Given the description of an element on the screen output the (x, y) to click on. 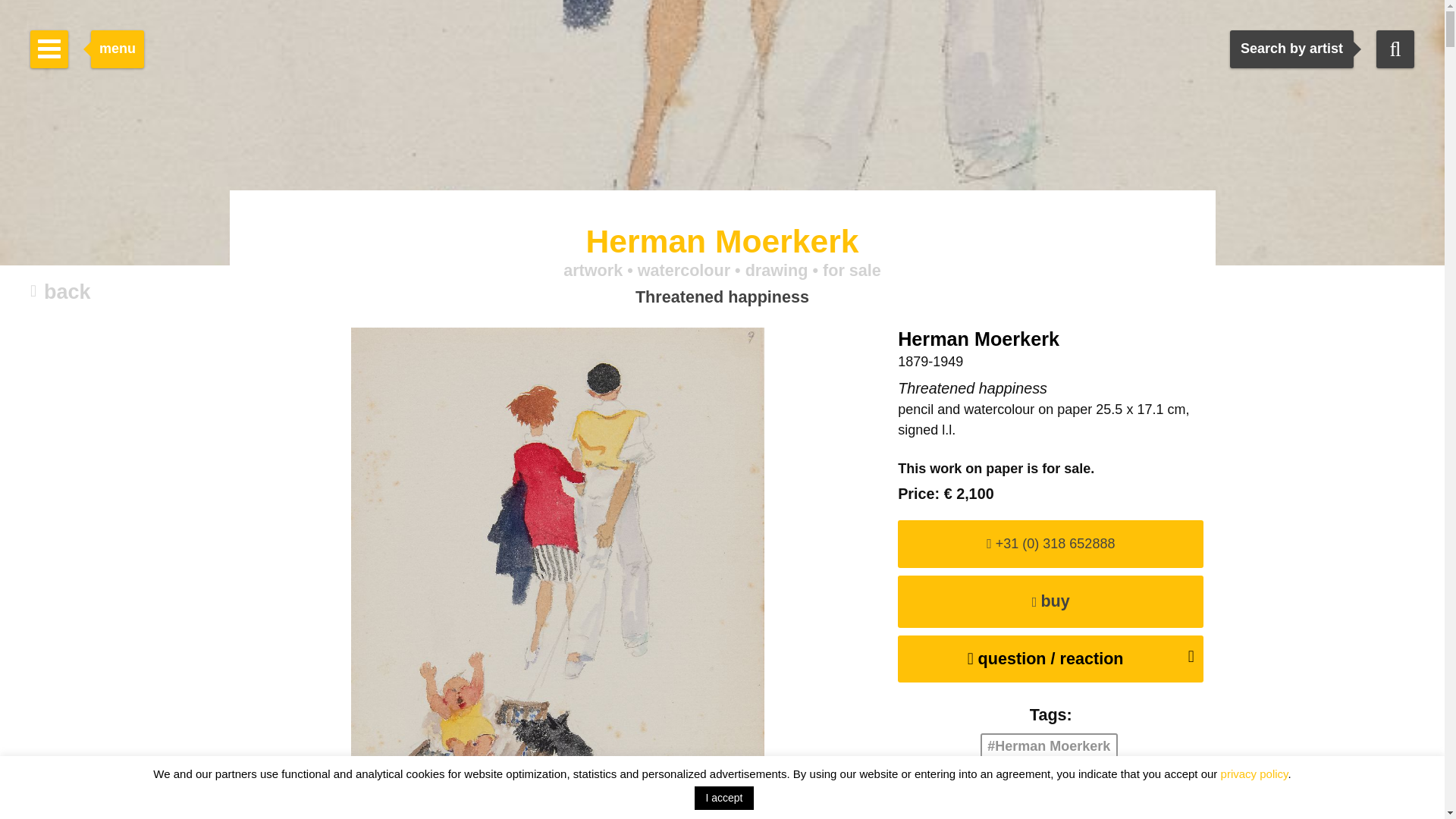
back (60, 291)
 buy (1056, 601)
